Given the description of an element on the screen output the (x, y) to click on. 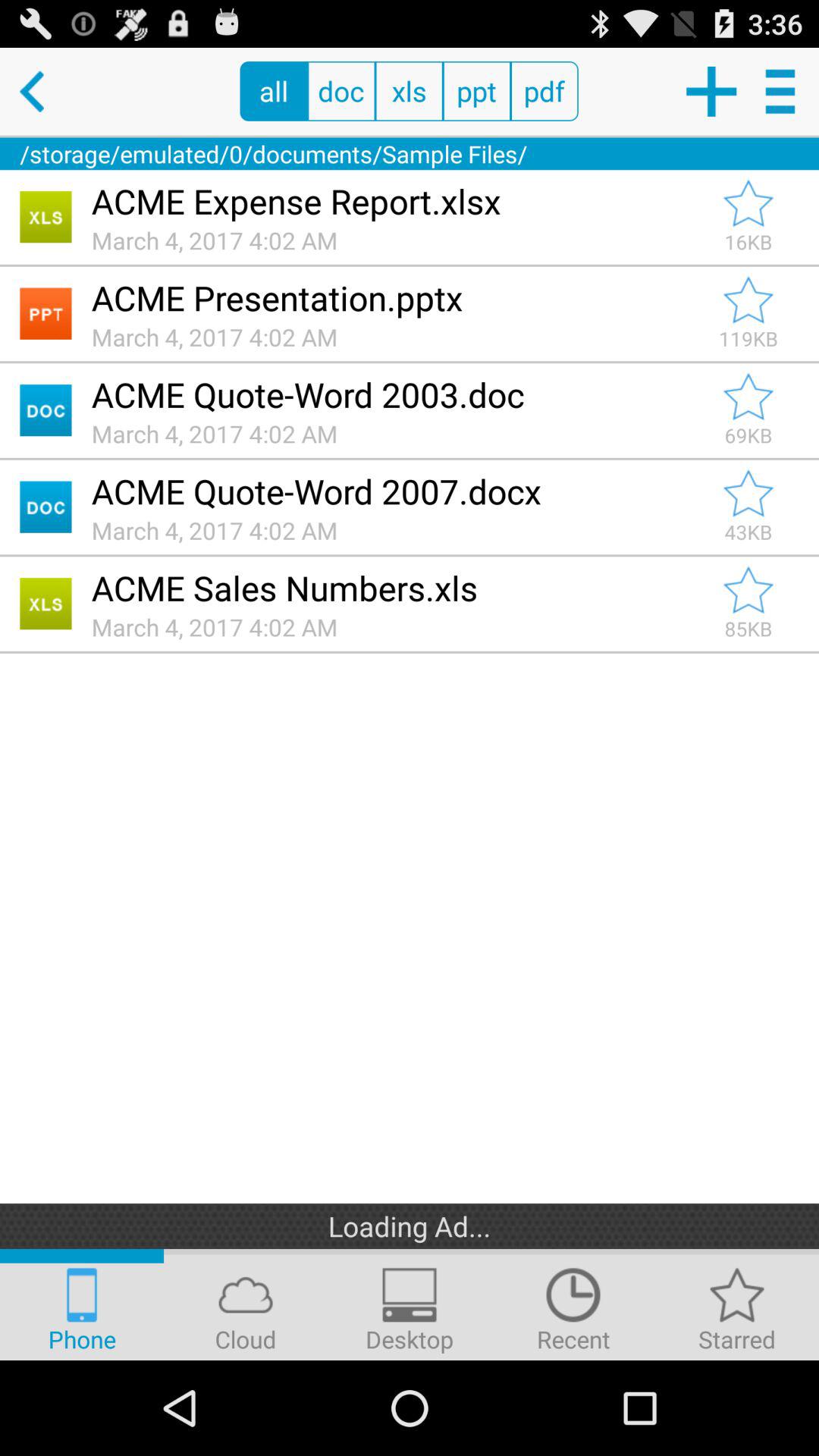
turn off the radio button to the right of pdf radio button (710, 91)
